Given the description of an element on the screen output the (x, y) to click on. 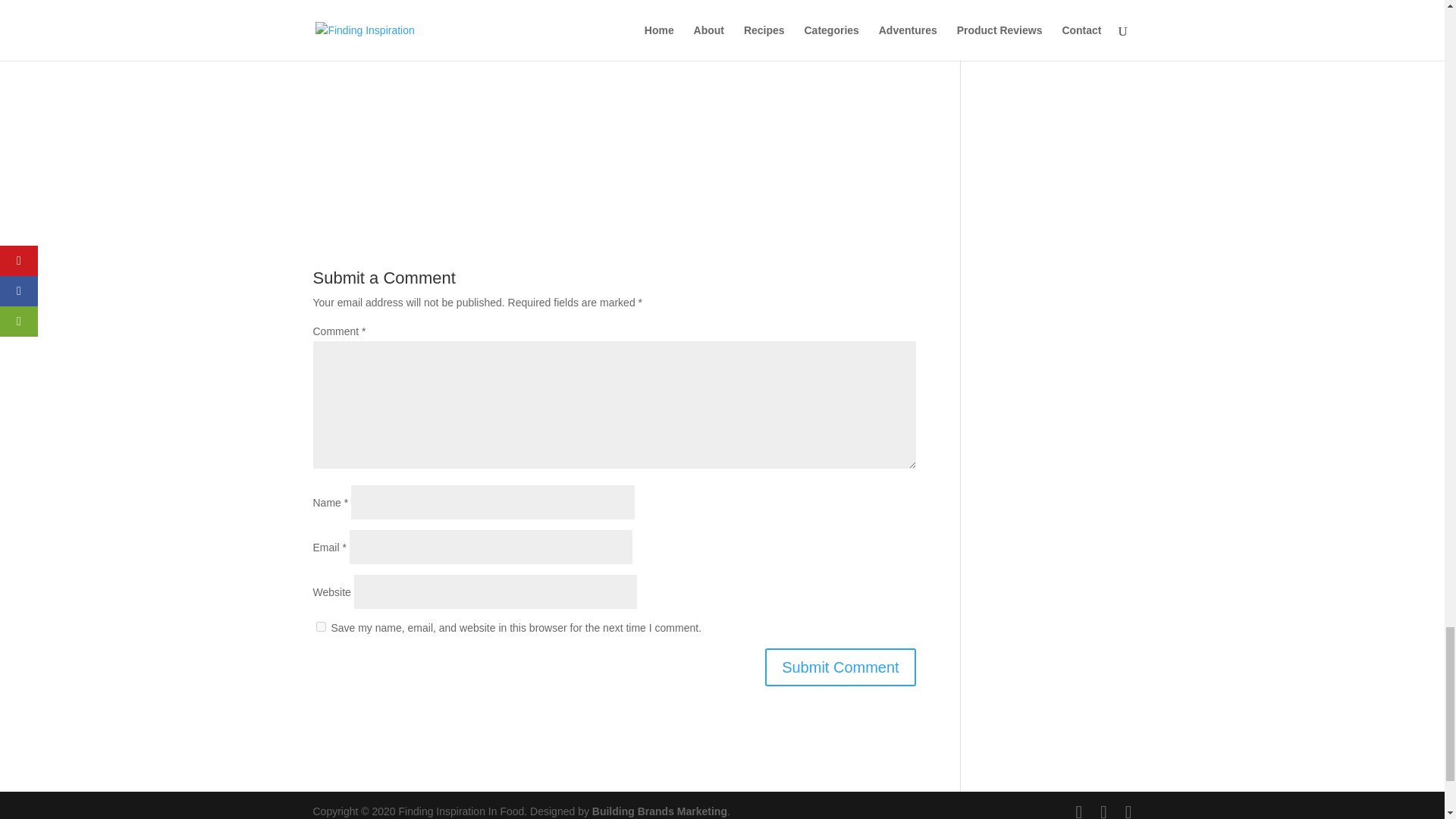
Building Brands Marketing (659, 811)
Submit Comment (840, 667)
yes (319, 626)
Submit Comment (840, 667)
